Given the description of an element on the screen output the (x, y) to click on. 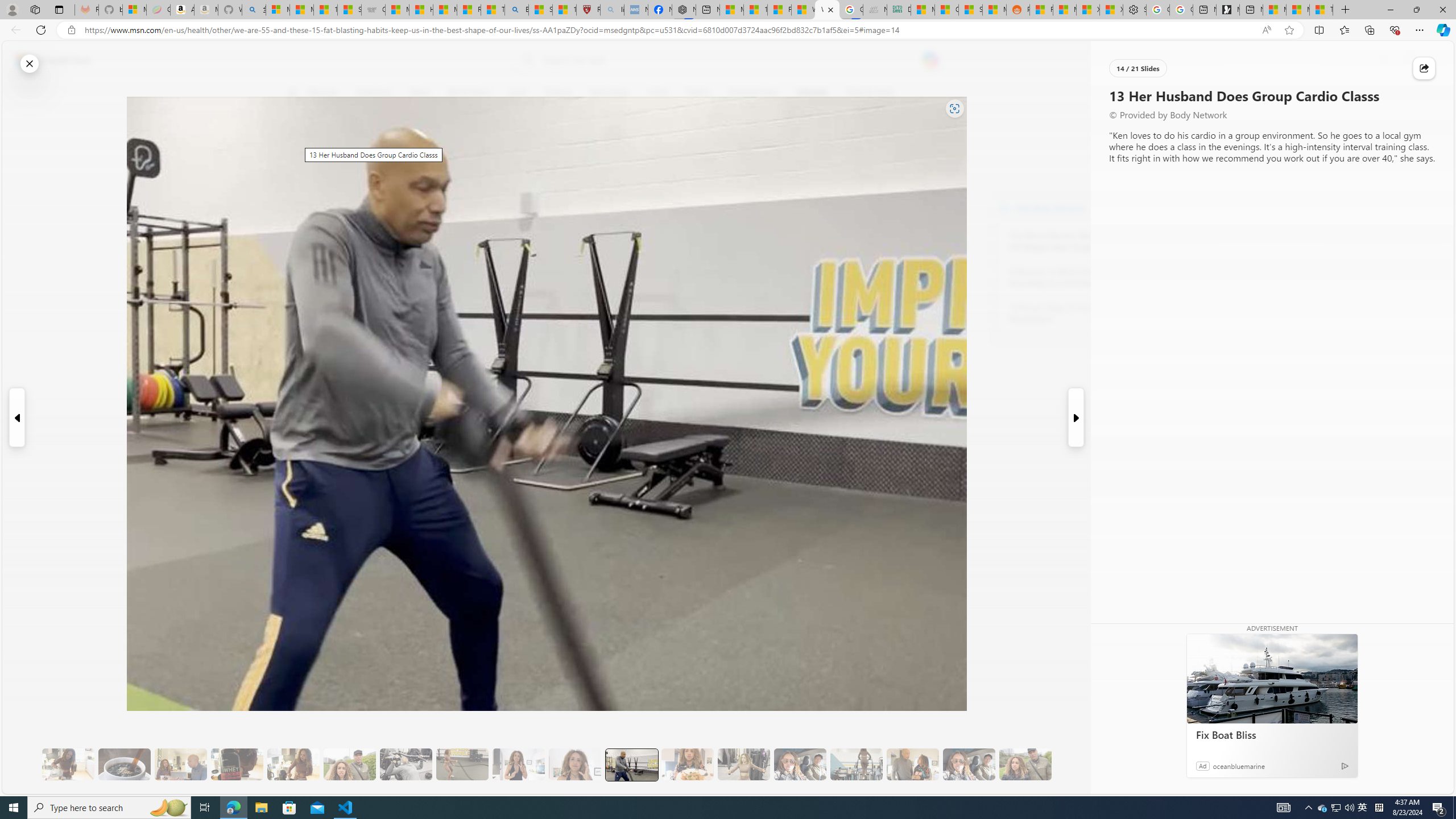
Fix Boat Bliss (1271, 678)
5 She Eats Less Than Her Husband (180, 764)
13 Her Husband Does Group Cardio Classs (631, 764)
16 The Couple's Program Helps with Accountability (800, 764)
9 They Do Bench Exercises (406, 764)
